Given the description of an element on the screen output the (x, y) to click on. 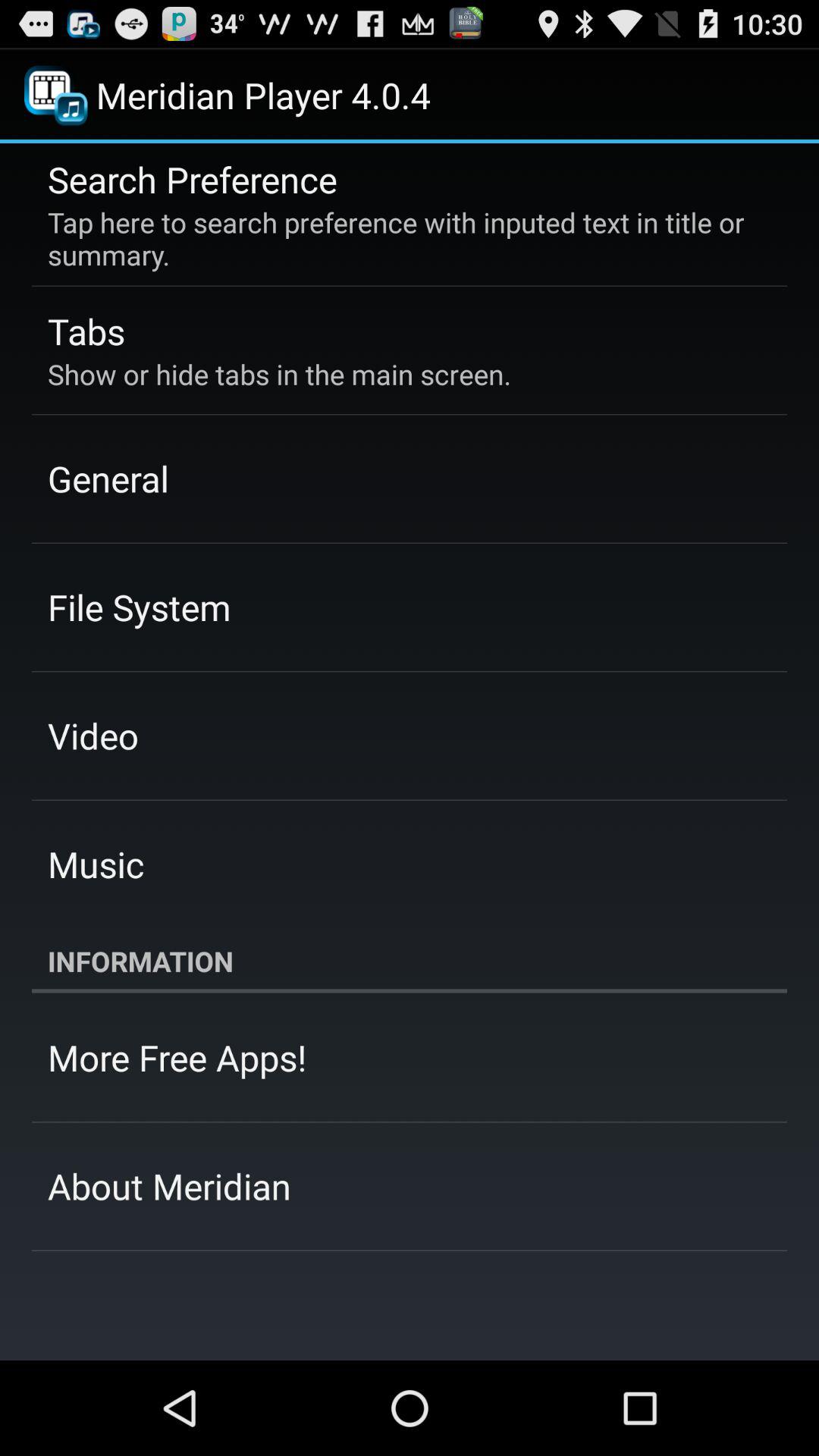
click icon below more free apps! app (169, 1185)
